Given the description of an element on the screen output the (x, y) to click on. 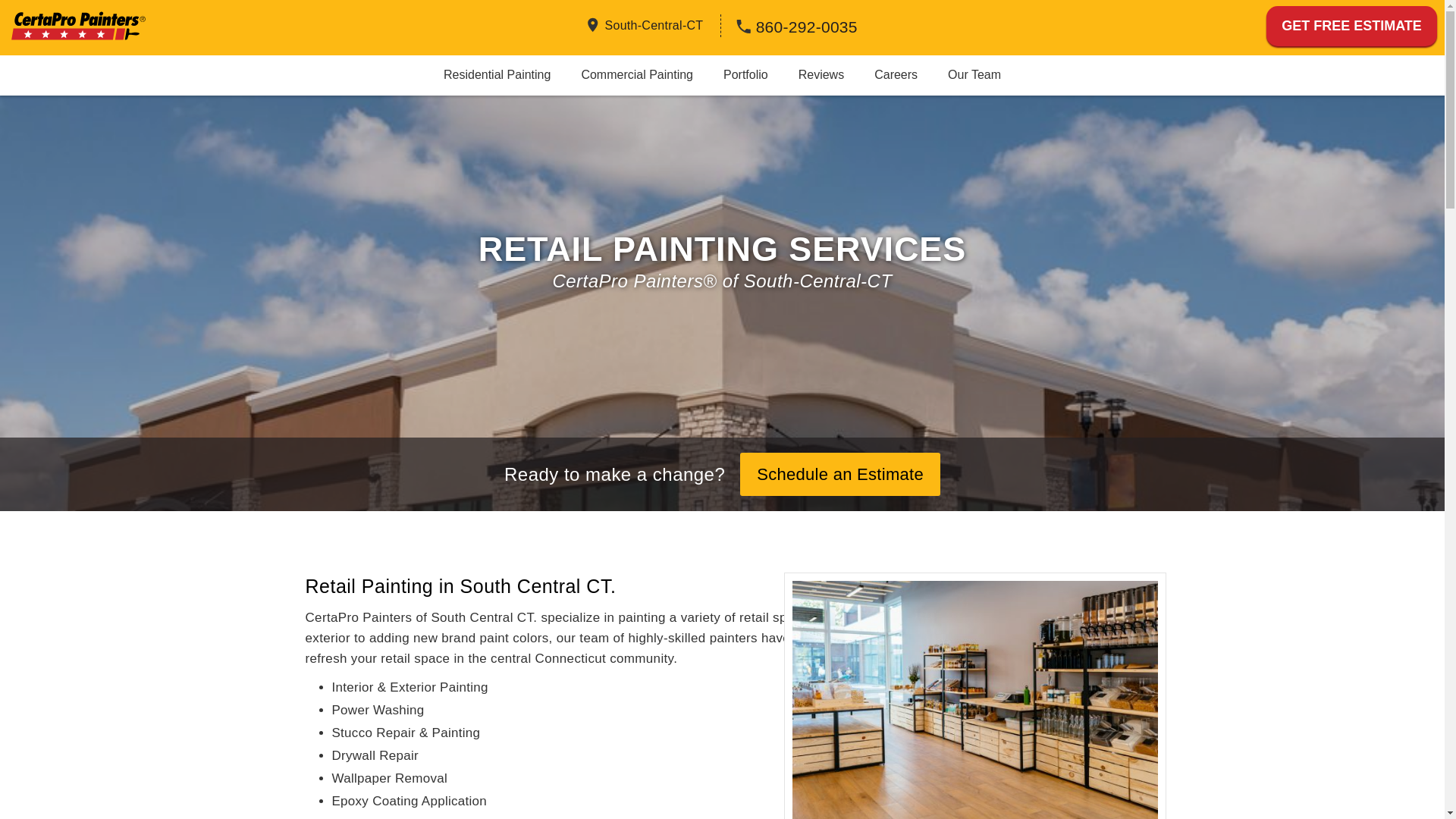
South-Central-CT (654, 24)
Portfolio (745, 74)
GET FREE ESTIMATE (1351, 25)
Commercial Painting (636, 74)
Residential Painting (497, 74)
